Given the description of an element on the screen output the (x, y) to click on. 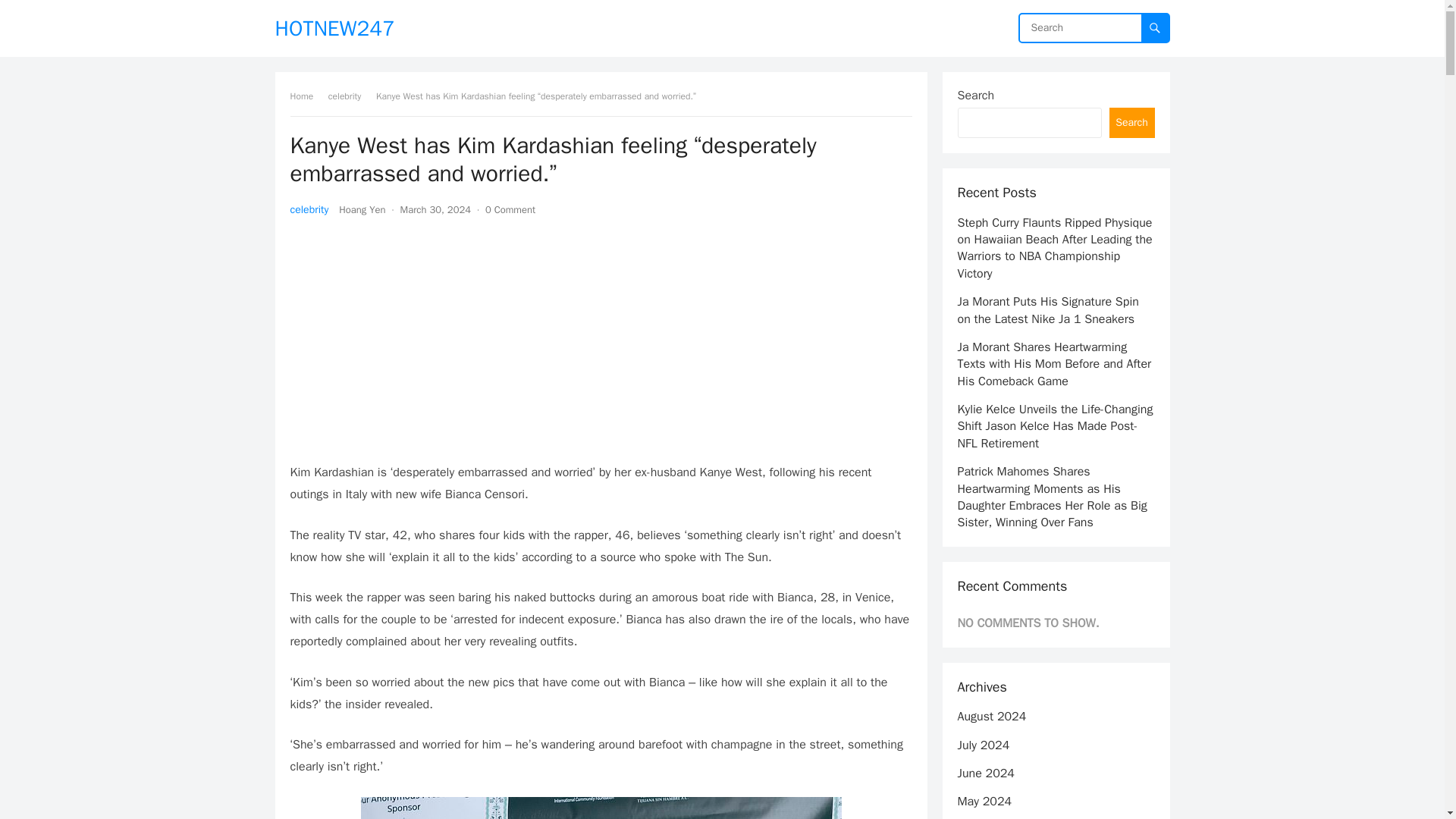
HOTNEW247 (334, 28)
celebrity (350, 96)
Hoang Yen (362, 209)
celebrity (309, 209)
Home (306, 96)
Posts by Hoang Yen (362, 209)
0 Comment (509, 209)
